Given the description of an element on the screen output the (x, y) to click on. 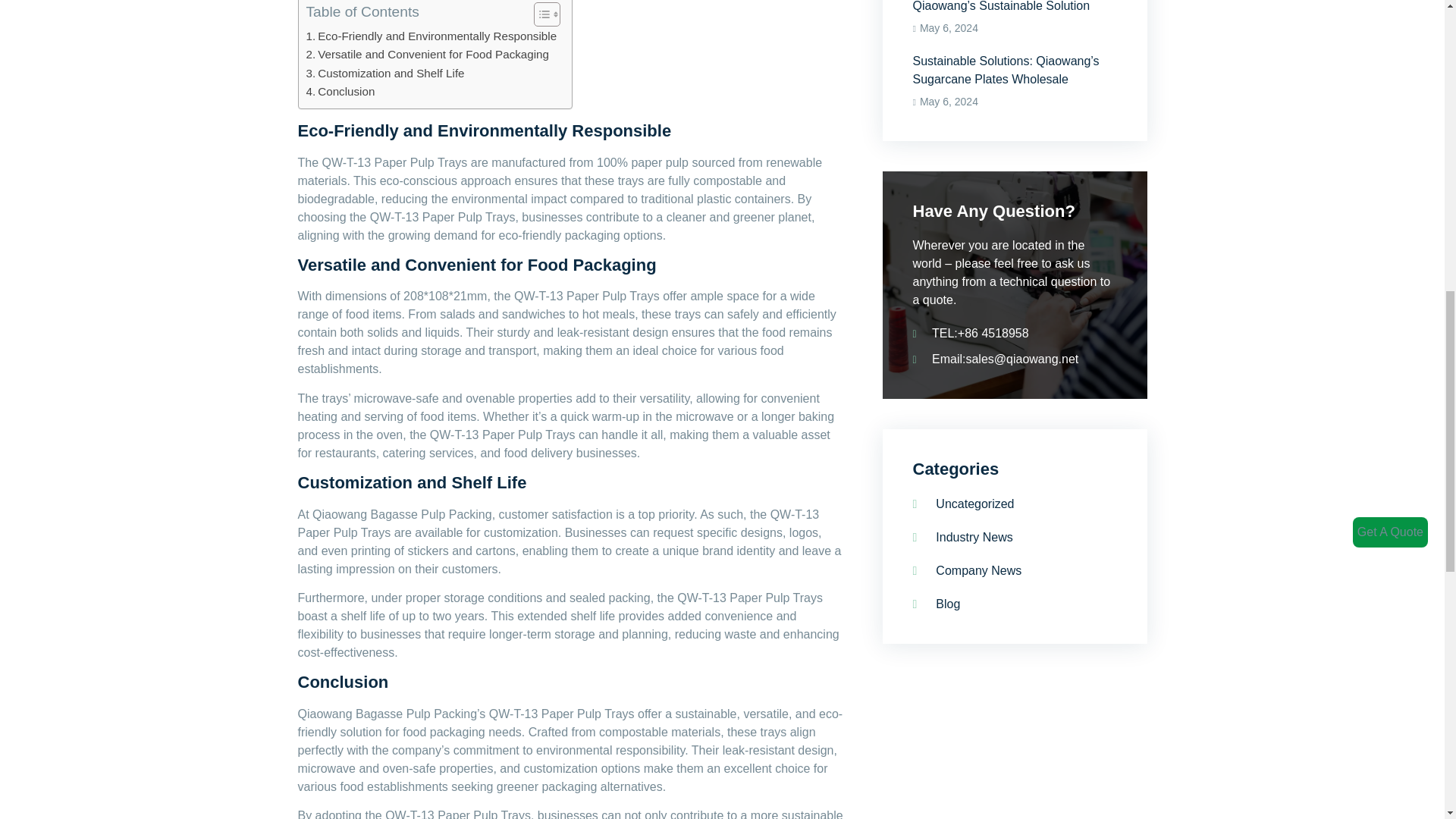
Conclusion (340, 91)
Eco-Friendly and Environmentally Responsible (431, 36)
Customization and Shelf Life (384, 73)
Customization and Shelf Life (384, 73)
Versatile and Convenient for Food Packaging (427, 54)
Conclusion (340, 91)
Versatile and Convenient for Food Packaging (427, 54)
Eco-Friendly and Environmentally Responsible (431, 36)
